Given the description of an element on the screen output the (x, y) to click on. 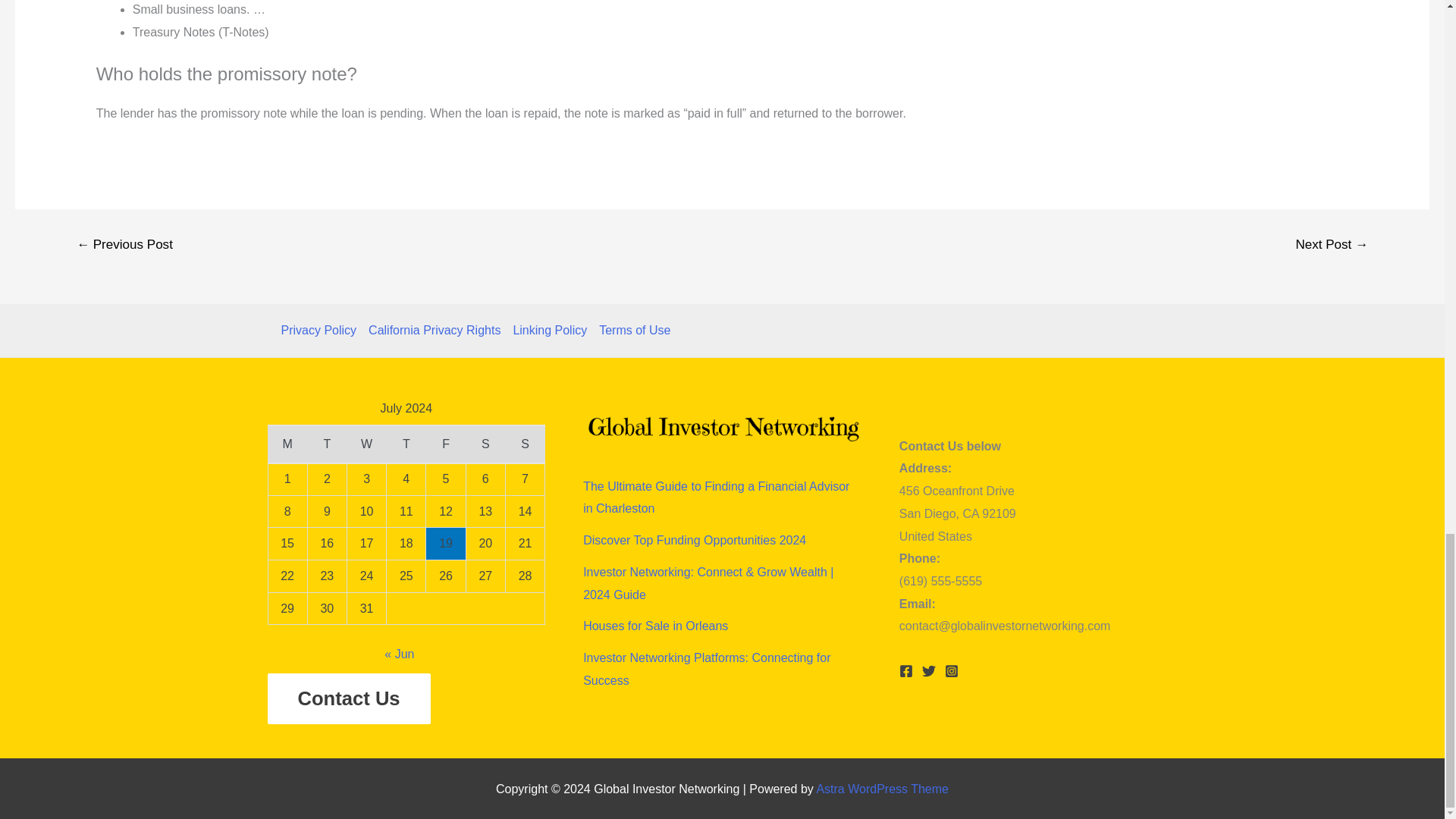
Monday (287, 444)
Tuesday (326, 444)
Thursday (406, 444)
Saturday (485, 444)
Friday (445, 444)
Wednesday (365, 444)
Sunday (524, 444)
